Given the description of an element on the screen output the (x, y) to click on. 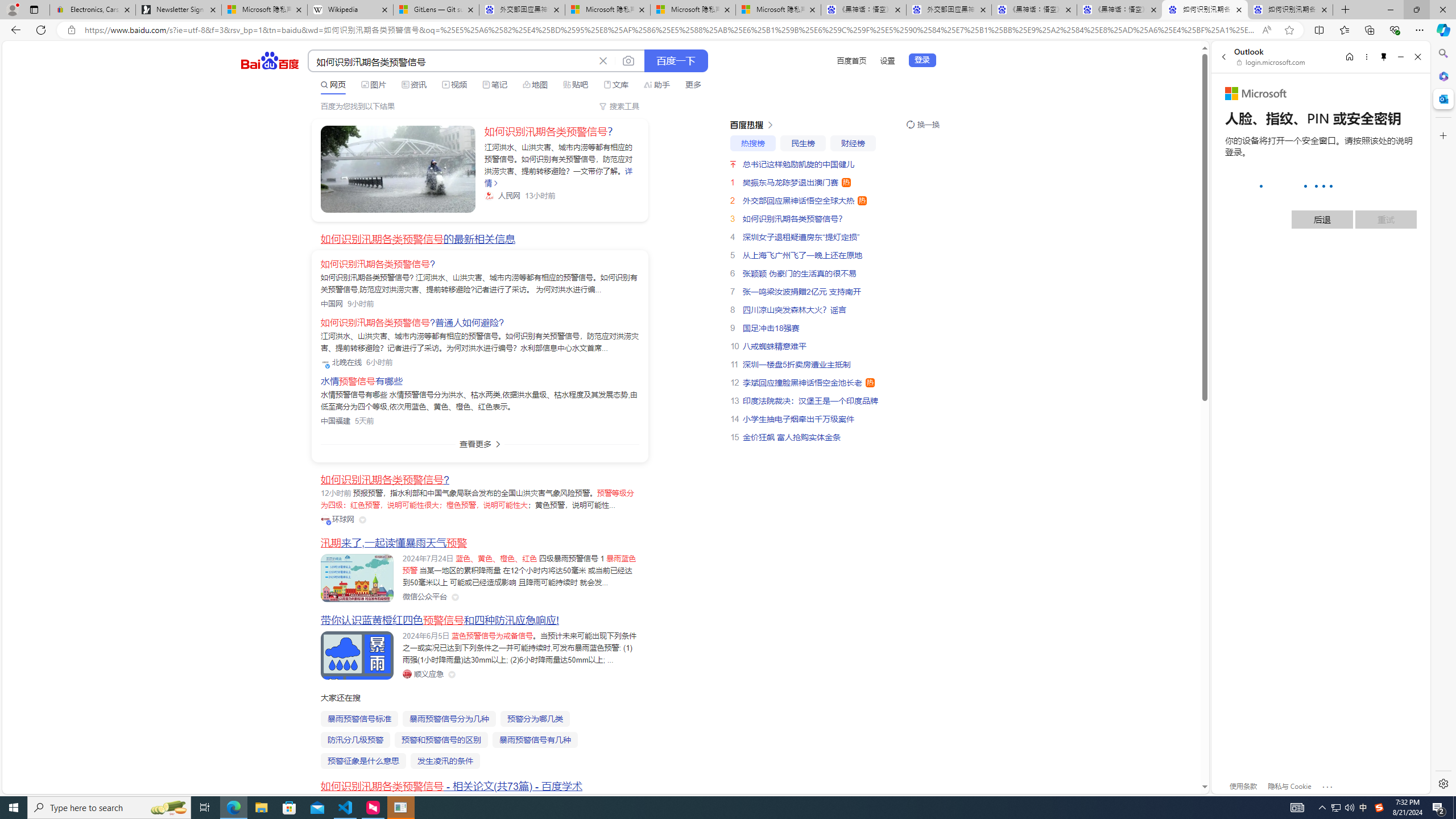
Microsoft (1255, 93)
